Given the description of an element on the screen output the (x, y) to click on. 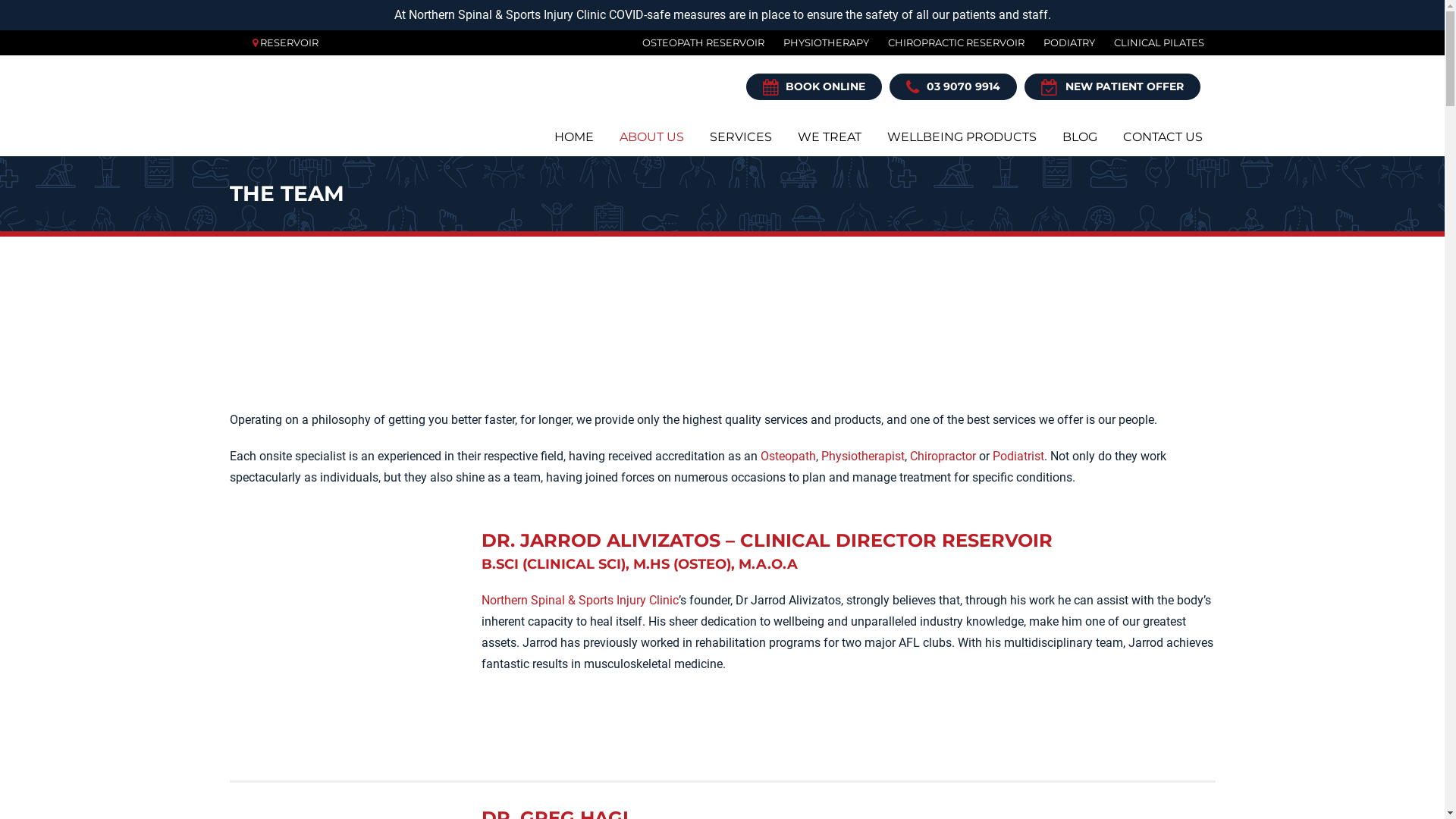
CONTACT US Element type: text (1162, 137)
CHIROPRACTIC RESERVOIR Element type: text (946, 42)
Podiatrist Element type: text (1017, 455)
NEW PATIENT OFFER Element type: text (1111, 86)
WELLBEING PRODUCTS Element type: text (960, 137)
CLINICAL PILATES Element type: text (1149, 42)
SERVICES Element type: text (740, 137)
BOOK ONLINE Element type: text (813, 86)
RESERVOIR Element type: text (288, 42)
Physiotherapist Element type: text (861, 455)
PODIATRY Element type: text (1058, 42)
03 9070 9914 Element type: text (952, 86)
HOME Element type: text (573, 137)
WE TREAT Element type: text (828, 137)
OSTEOPATH RESERVOIR Element type: text (693, 42)
PHYSIOTHERAPY Element type: text (816, 42)
BLOG Element type: text (1079, 137)
Osteopath Element type: text (787, 455)
Northern Spinal & Sports Injury Clinic Element type: text (579, 600)
Chiropractor Element type: text (942, 455)
ABOUT US Element type: text (651, 137)
